Given the description of an element on the screen output the (x, y) to click on. 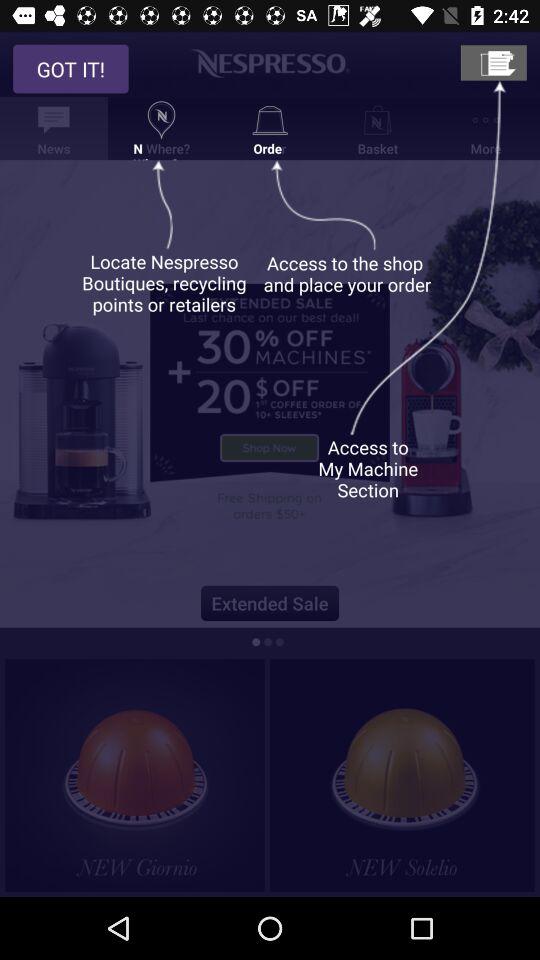
open new section (493, 62)
